Given the description of an element on the screen output the (x, y) to click on. 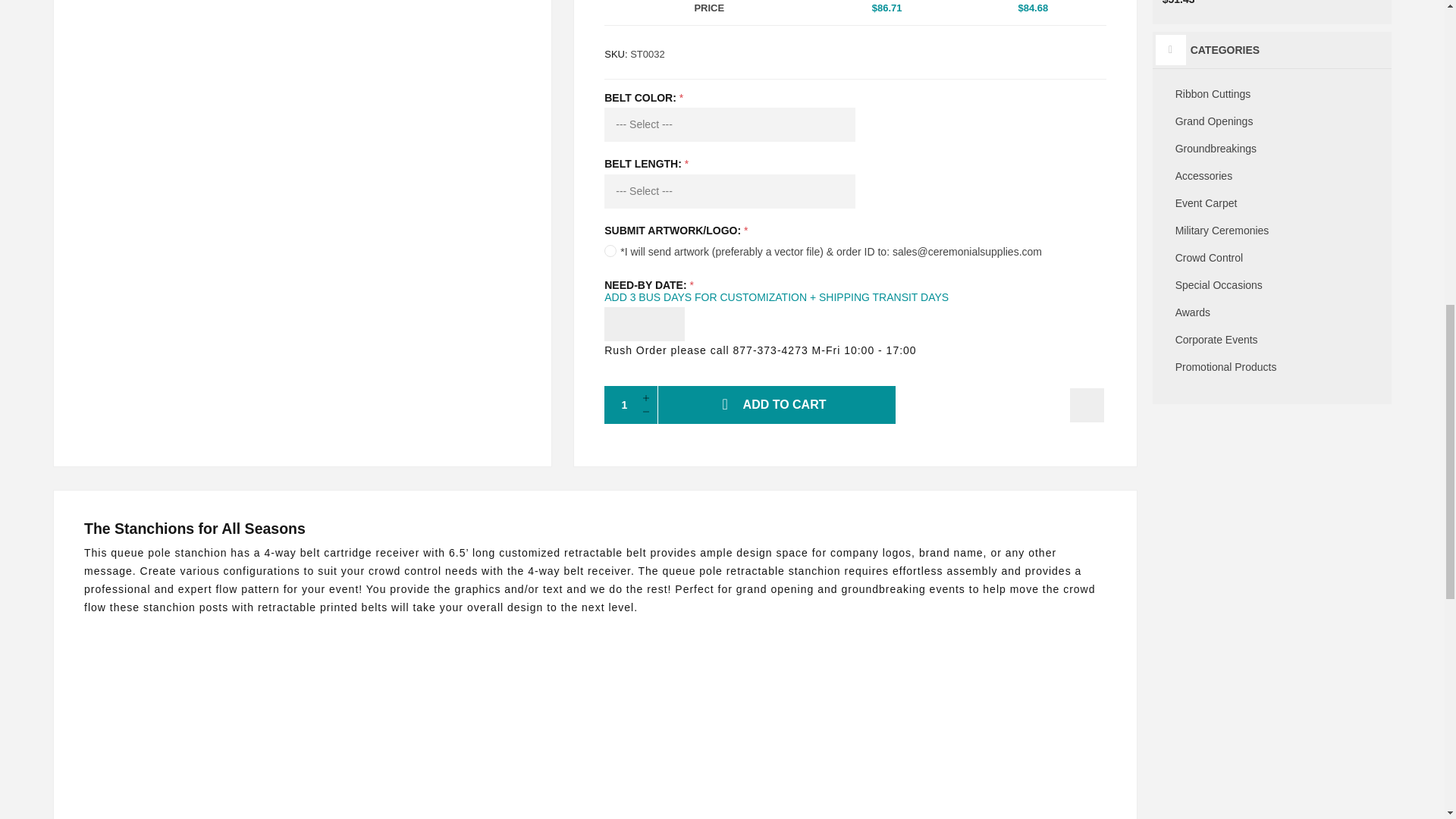
Email a friend (1086, 405)
